Given the description of an element on the screen output the (x, y) to click on. 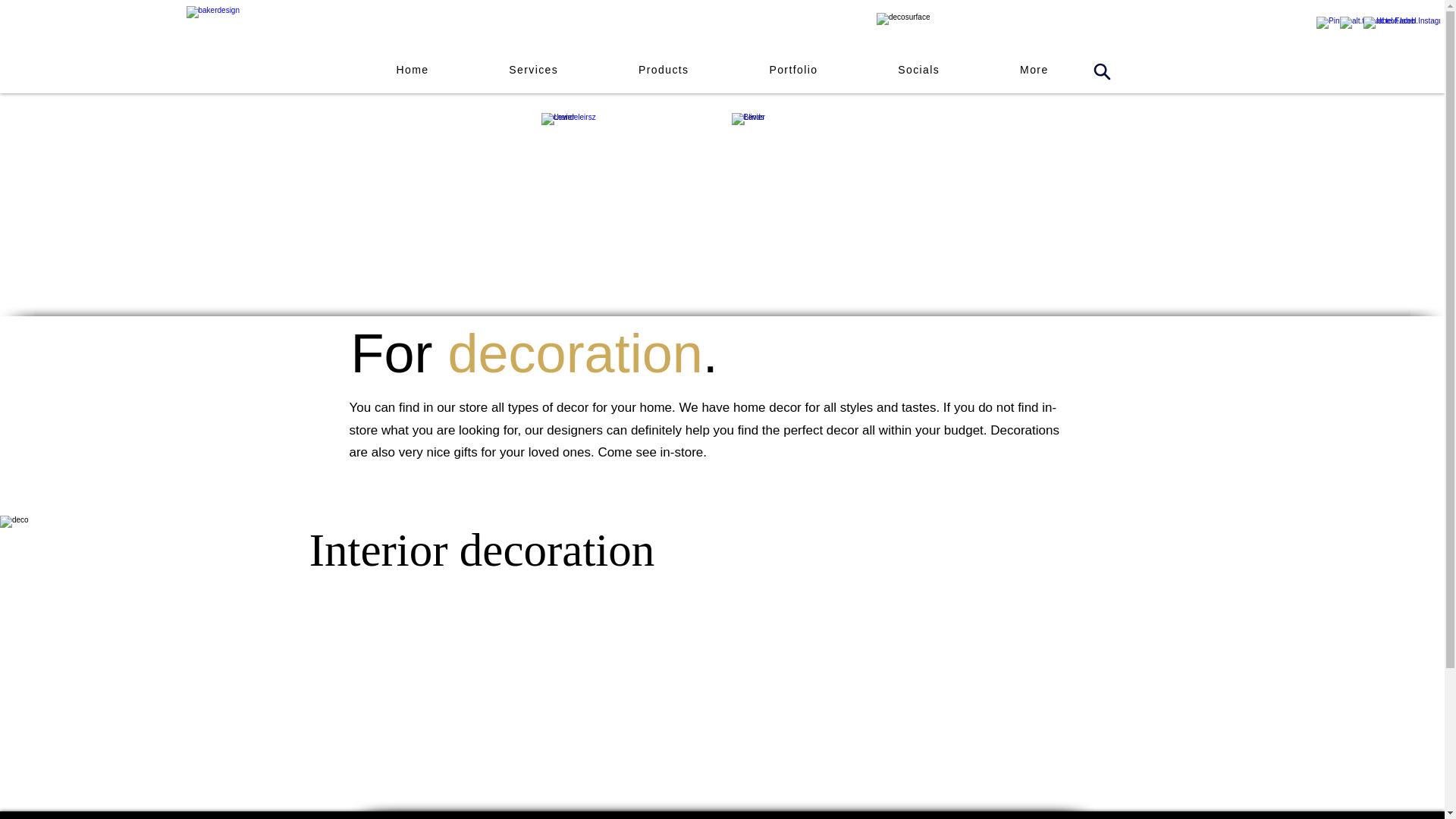
Home (411, 70)
Services (532, 70)
Deco (721, 70)
